Given the description of an element on the screen output the (x, y) to click on. 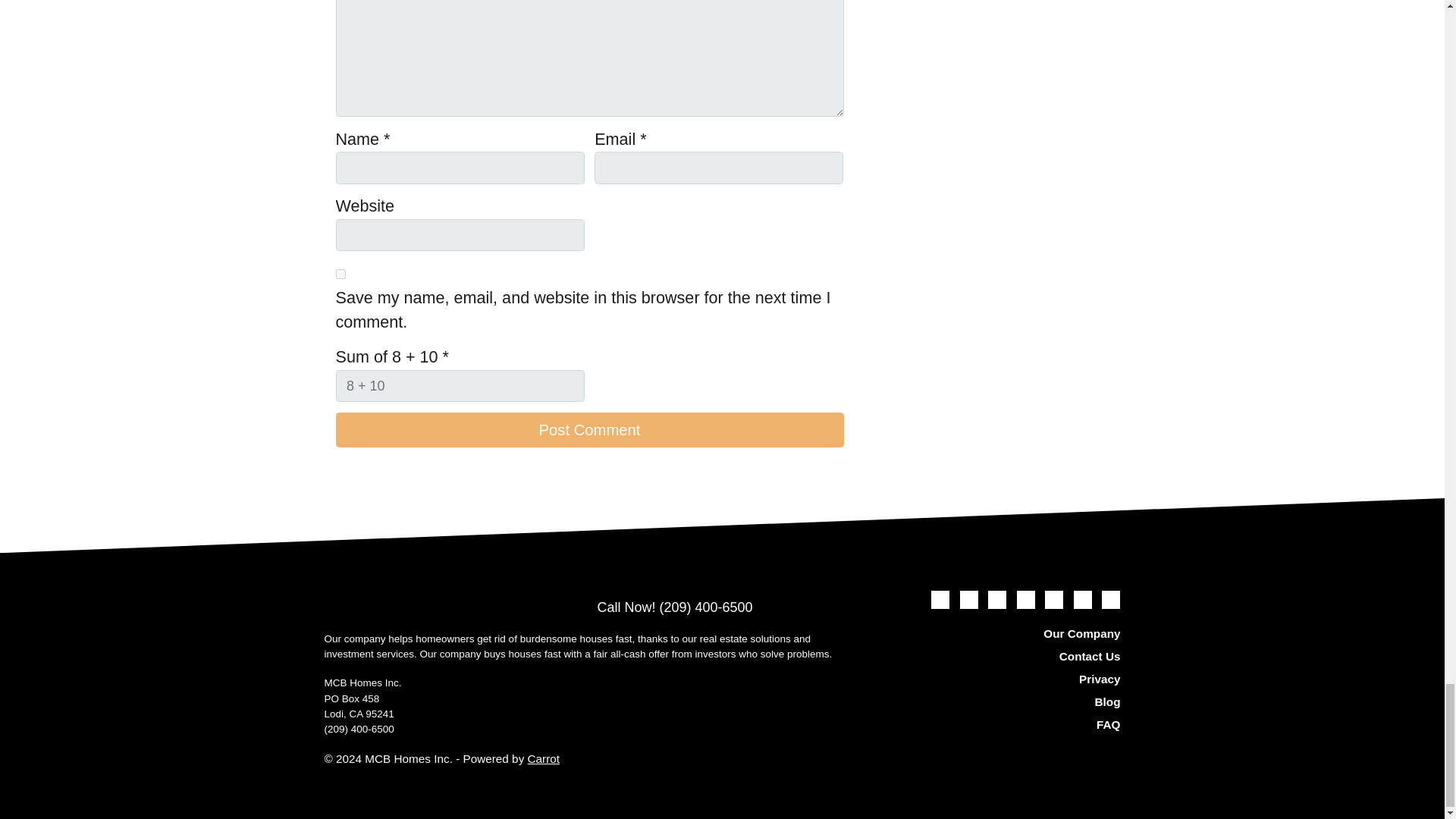
yes (339, 274)
Post Comment (588, 429)
Post Comment (588, 429)
